Given the description of an element on the screen output the (x, y) to click on. 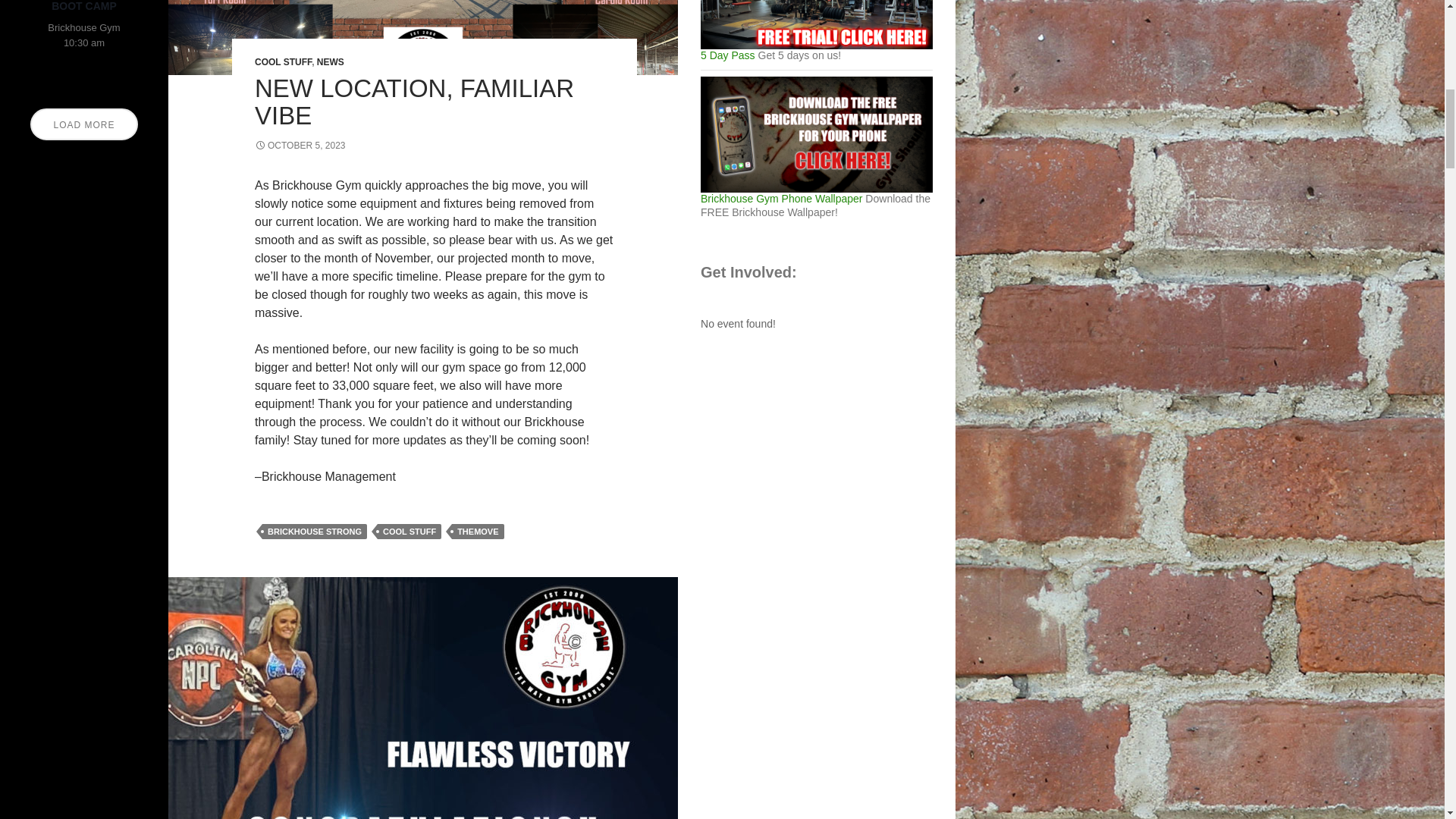
THEMOVE (477, 531)
NEW LOCATION, FAMILIAR VIBE (413, 101)
Download the FREE Brickhouse Wallpaper! (816, 165)
COOL STUFF (282, 61)
BRICKHOUSE STRONG (314, 531)
Get 5 days on us! (816, 24)
NEWS (330, 61)
Get 5 days on us! (816, 30)
OCTOBER 5, 2023 (300, 145)
Download the FREE Brickhouse Wallpaper! (816, 134)
COOL STUFF (409, 531)
